Given the description of an element on the screen output the (x, y) to click on. 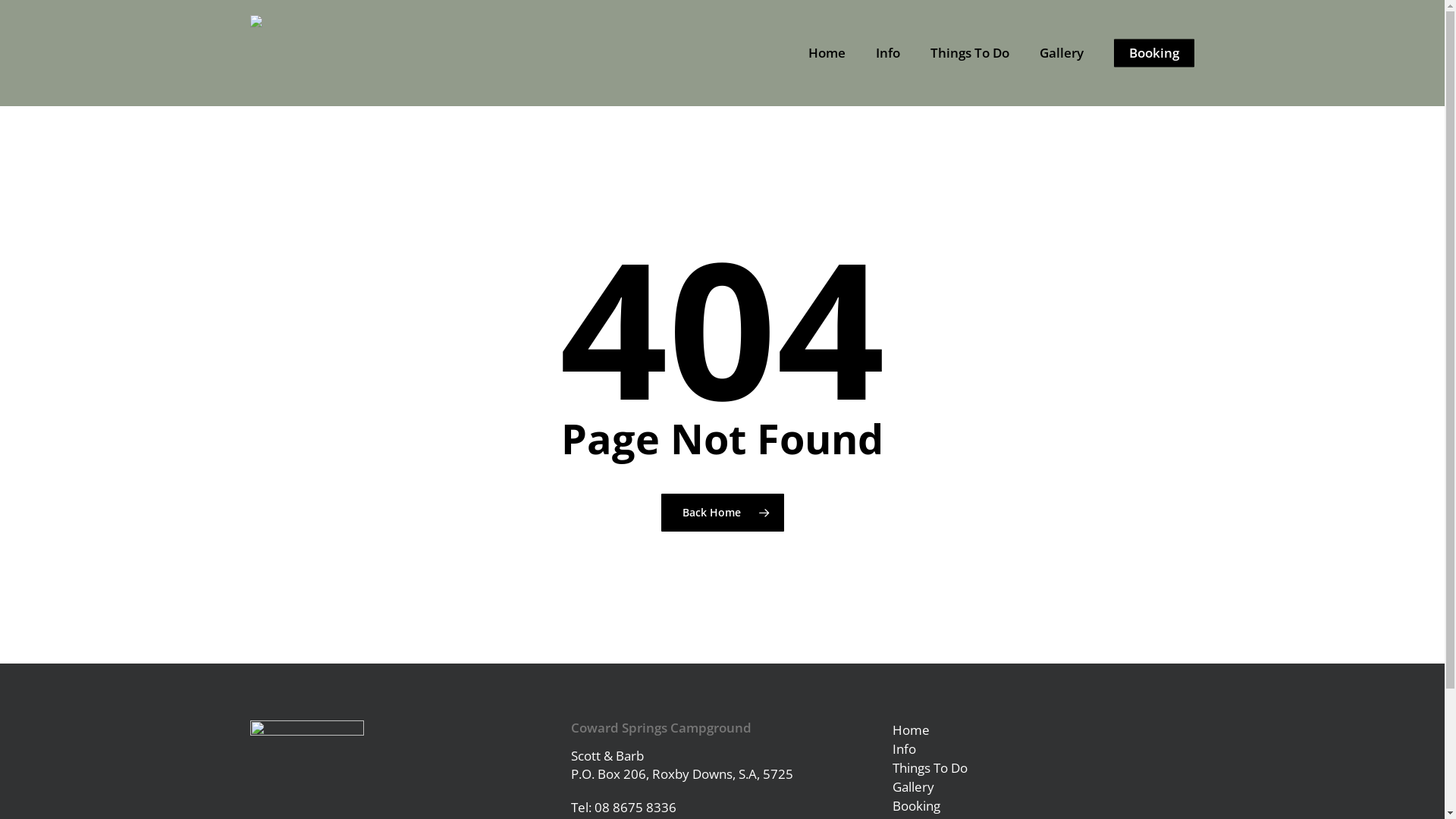
Booking Element type: text (1043, 805)
Info Element type: text (1043, 748)
Gallery Element type: text (1043, 786)
Home Element type: text (826, 52)
Back Home Element type: text (722, 511)
Gallery Element type: text (1061, 52)
Things To Do Element type: text (1043, 767)
Things To Do Element type: text (969, 52)
Info Element type: text (887, 52)
08 8675 8336 Element type: text (635, 806)
Home Element type: text (1043, 729)
Booking Element type: text (1153, 52)
